Given the description of an element on the screen output the (x, y) to click on. 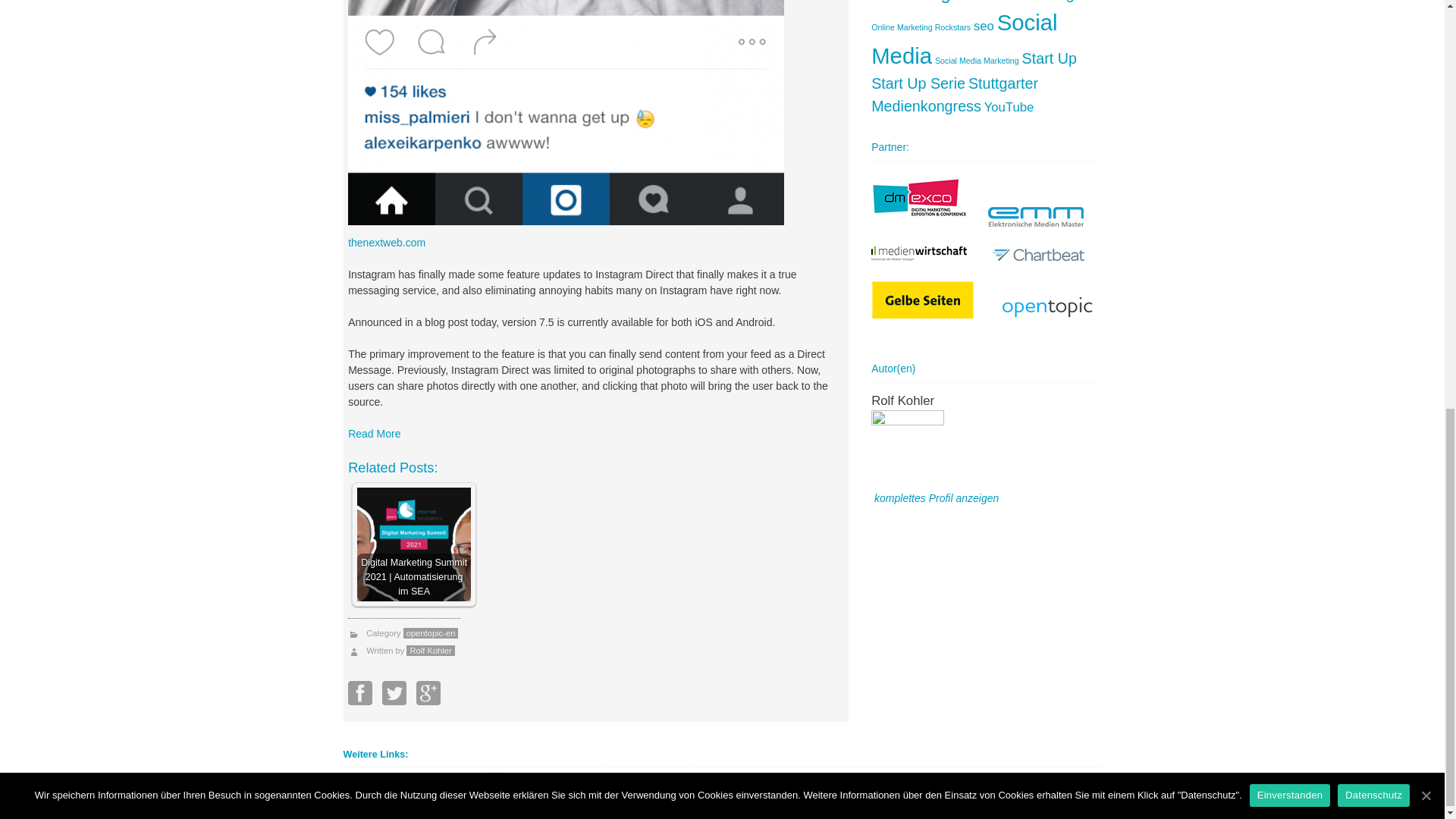
Artikel von Rolf Kohler (430, 650)
thenextweb.com (386, 242)
Read full Profile (936, 498)
Read More (373, 433)
